Given the description of an element on the screen output the (x, y) to click on. 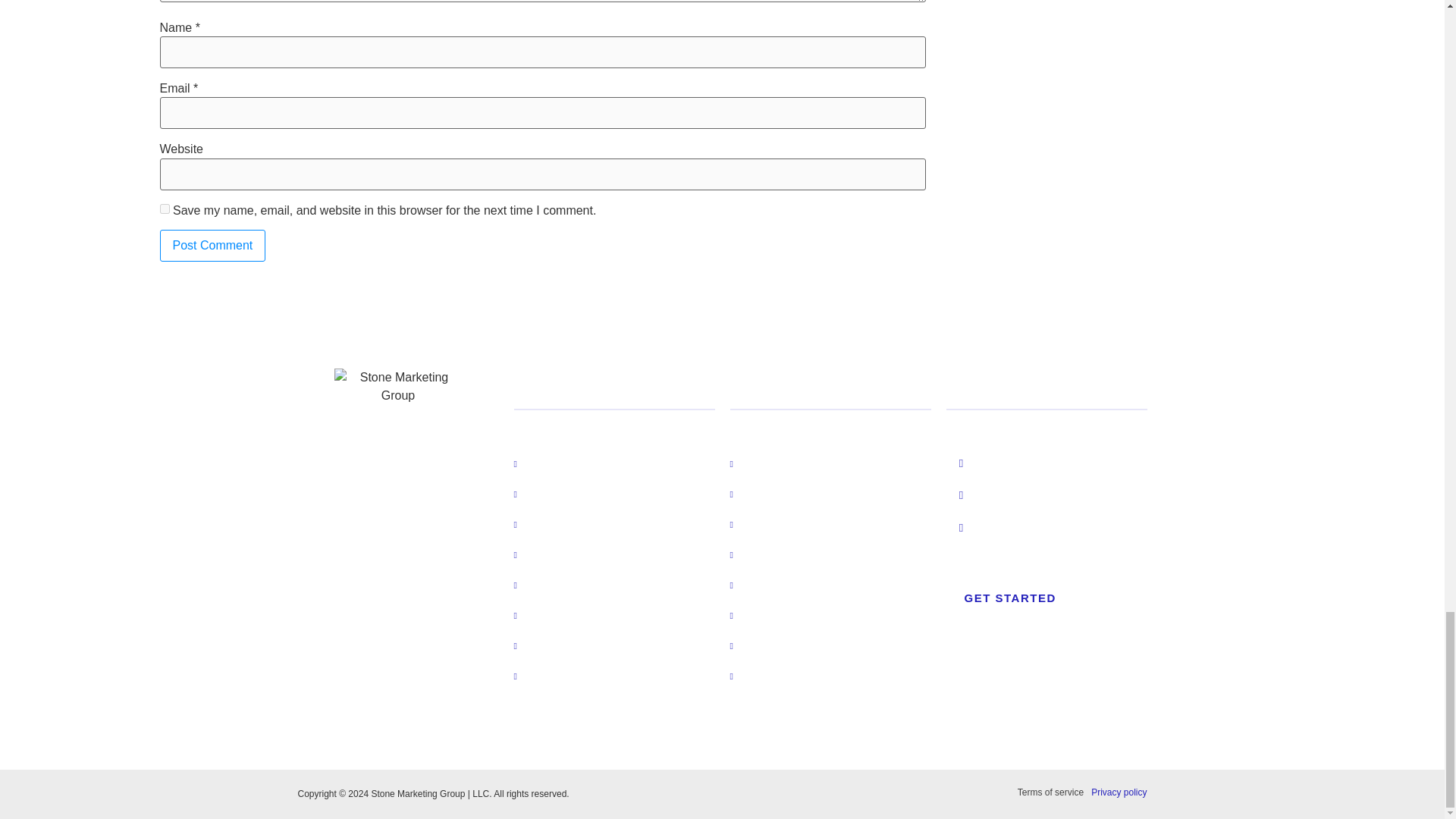
yes (163, 208)
Latest Blog (552, 522)
Post Comment (211, 245)
Post Comment (211, 245)
About Us (548, 492)
Our Services (557, 553)
Home (539, 462)
Client Testimonials (572, 584)
